Given the description of an element on the screen output the (x, y) to click on. 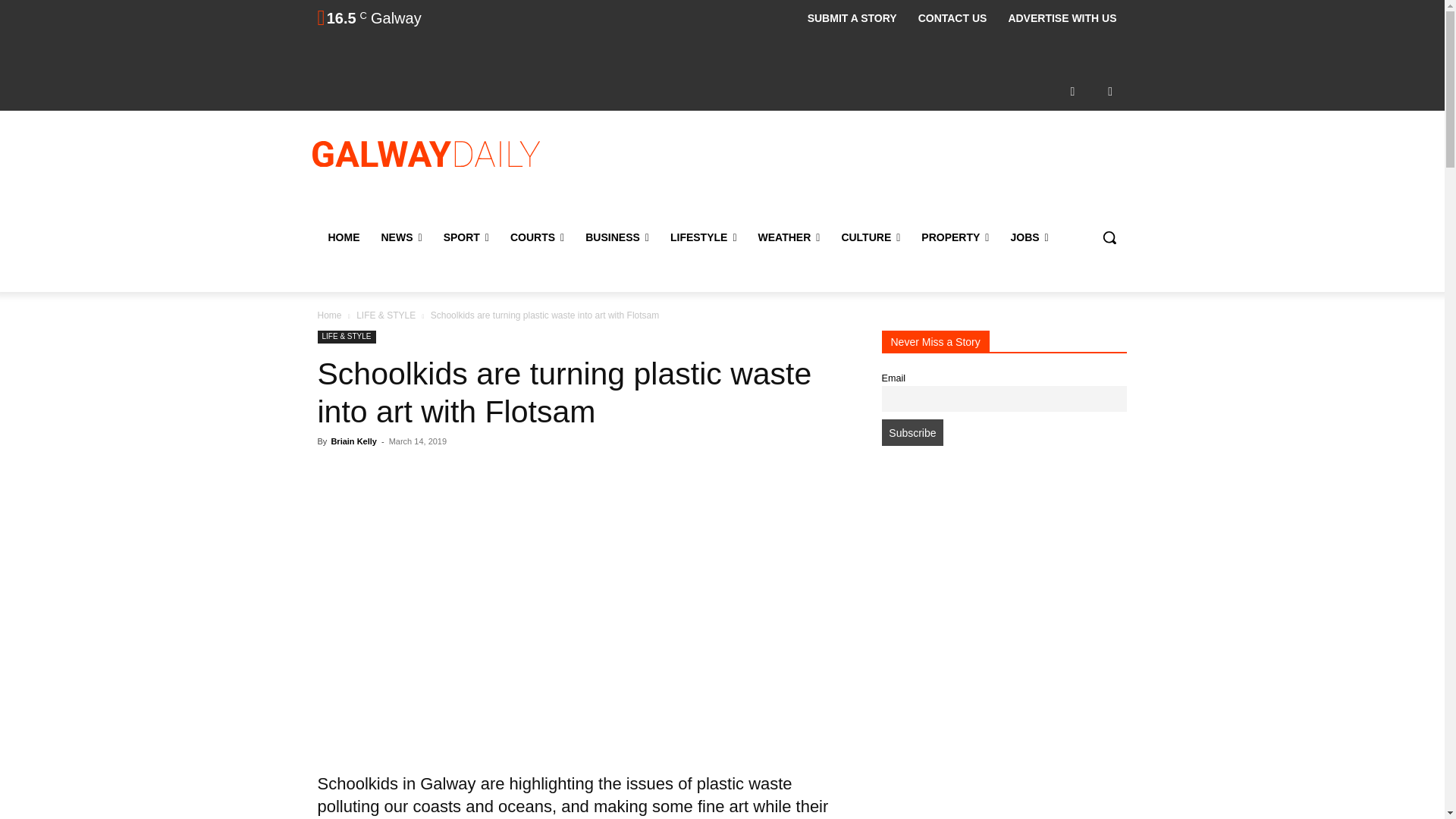
Facebook (1072, 91)
Subscribe (911, 432)
Advertisement (846, 172)
Twitter (1109, 91)
